Given the description of an element on the screen output the (x, y) to click on. 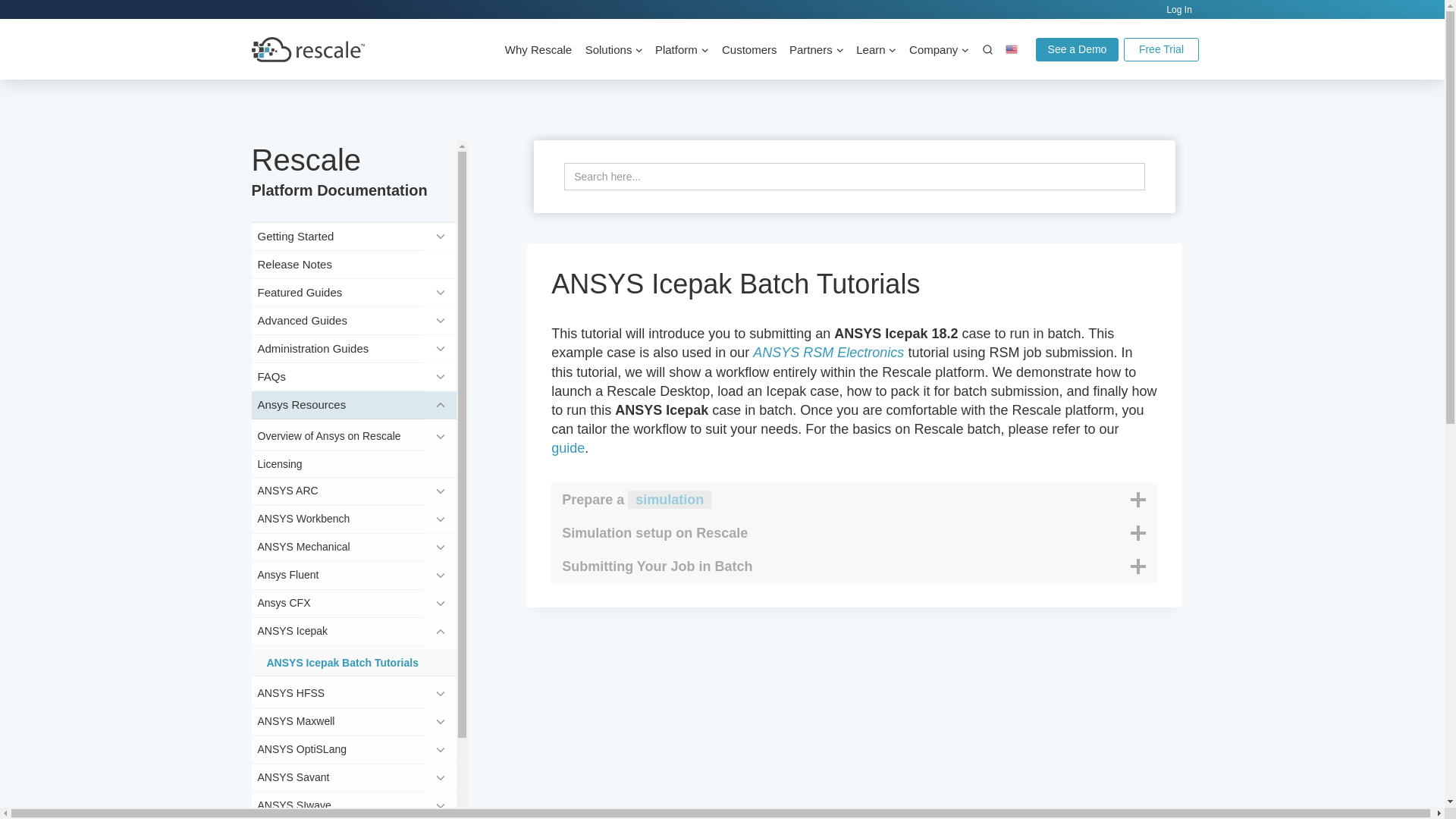
English (1016, 49)
Why Rescale (538, 49)
Log In (1181, 9)
Solutions (613, 49)
Platform (681, 49)
